Given the description of an element on the screen output the (x, y) to click on. 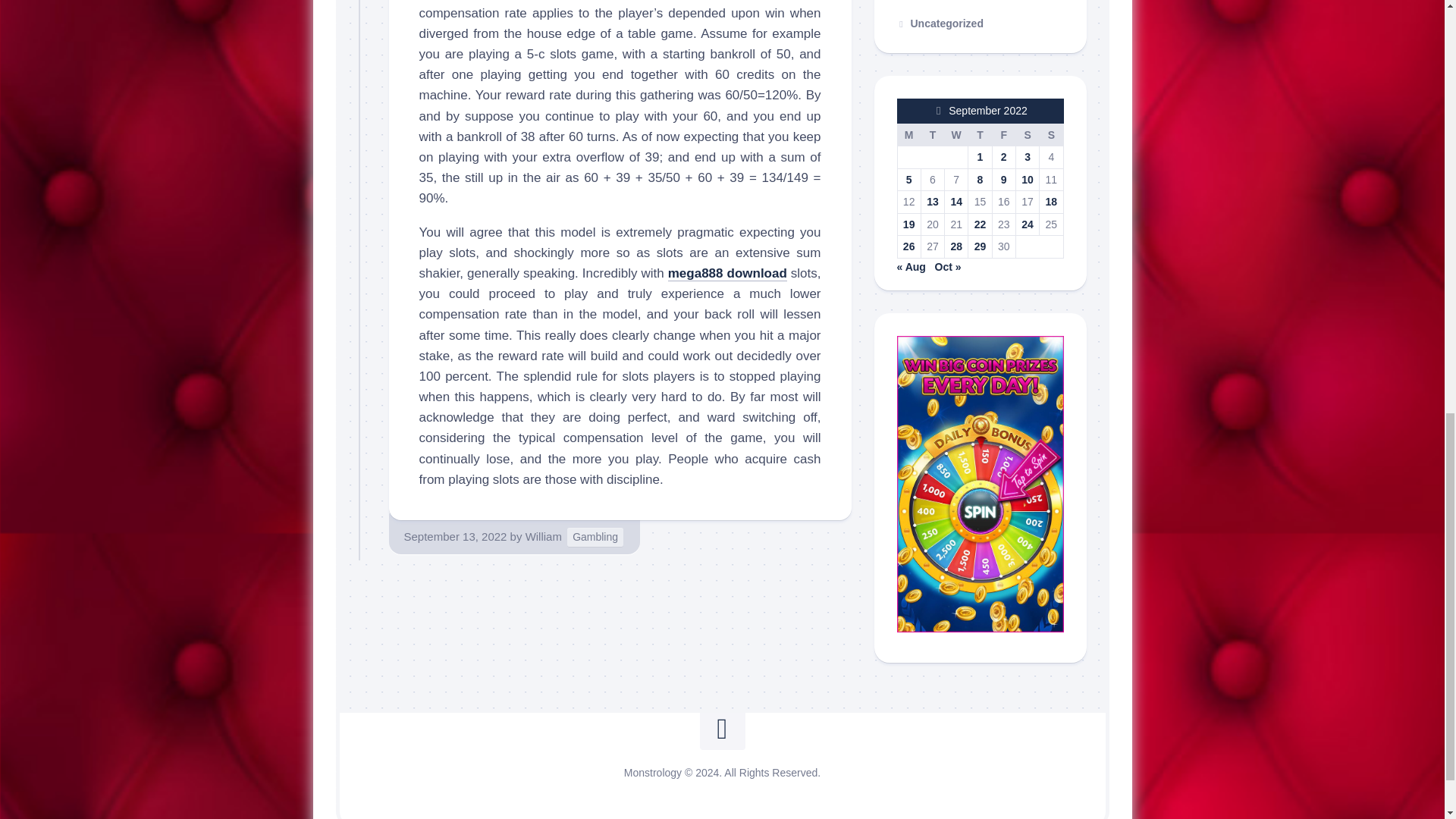
Wednesday (956, 134)
13 (932, 201)
Monday (908, 134)
Tuesday (931, 134)
William (543, 535)
Gambling (595, 537)
Thursday (979, 134)
10 (1027, 179)
Saturday (1026, 134)
19 (908, 224)
24 (1027, 224)
22 (980, 224)
14 (956, 201)
Sunday (1050, 134)
